Given the description of an element on the screen output the (x, y) to click on. 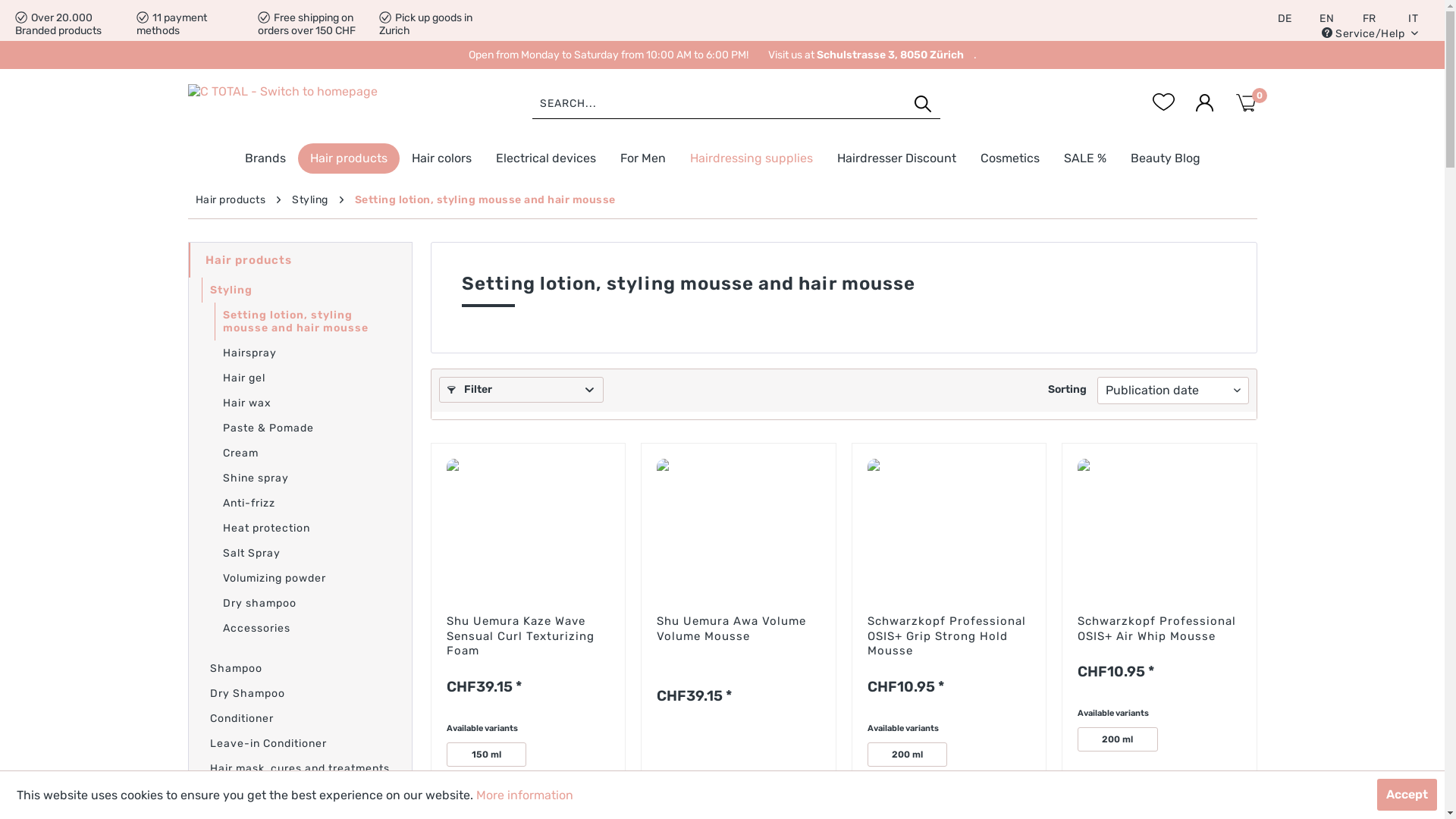
Shu Uemura Kaze Wave Sensual Curl Texturizing Foam Element type: hover (527, 523)
Brands Element type: text (264, 158)
Hair products Element type: text (230, 199)
Styling Element type: text (299, 289)
Accept Element type: text (1407, 794)
0 Element type: text (1245, 101)
Schwarzkopf Professional OSIS+ Air Whip Mousse Element type: text (1159, 628)
ADD TO CART Element type: text (527, 786)
Hair wax Element type: text (299, 402)
Hairspray Element type: text (299, 352)
Cream Element type: text (299, 452)
Shu Uemura Kaze Wave Sensual Curl Texturizing Foam Element type: text (527, 636)
Conditioner Element type: text (299, 718)
ADD TO CART Element type: text (1159, 786)
SOLD OUT Element type: text (738, 786)
Electrical devices Element type: text (545, 158)
Accessories Element type: text (299, 627)
Shine spray Element type: text (299, 477)
Filter Element type: text (520, 389)
Heat protection Element type: text (299, 527)
Dry shampoo Element type: text (299, 602)
Anti-frizz Element type: text (299, 502)
Hairdressing supplies Element type: text (751, 158)
Hair gel Element type: text (299, 377)
Schwarzkopf Professional OSIS+ Grip Strong Hold Mousse Element type: hover (949, 523)
Beauty Blog Element type: text (1164, 158)
More information Element type: text (524, 794)
Leave-in Conditioner Element type: text (299, 743)
Hair products Element type: text (299, 259)
Styling Element type: text (309, 199)
200 ml Element type: text (1117, 739)
Notepad Element type: hover (1163, 101)
150 ml Element type: text (485, 754)
My account Element type: hover (1204, 101)
Hair mask, cures and treatments Element type: text (299, 768)
Paste & Pomade Element type: text (299, 427)
Setting lotion, styling mousse and hair mousse Element type: text (299, 321)
SALE % Element type: text (1084, 158)
Dry Shampoo Element type: text (299, 693)
Cosmetics Element type: text (1009, 158)
Hair products Element type: text (347, 158)
Intensive Care Element type: text (299, 793)
Schwarzkopf Professional OSIS+ Grip Strong Hold Mousse Element type: text (949, 636)
Hair colors Element type: text (440, 158)
Shu Uemura Awa Volume Volume Mousse Element type: hover (738, 523)
Setting lotion, styling mousse and hair mousse Element type: text (485, 199)
For Men Element type: text (642, 158)
200 ml Element type: text (907, 754)
ADD TO CART Element type: text (949, 786)
Volumizing powder Element type: text (299, 577)
Shu Uemura Awa Volume Volume Mousse Element type: text (738, 641)
C TOTAL - Switch to homepage Element type: hover (298, 103)
Shampoo Element type: text (299, 667)
Salt Spray Element type: text (299, 552)
Schwarzkopf Professional OSIS+ Air Whip Mousse Element type: hover (1159, 523)
Hairdresser Discount Element type: text (896, 158)
